Given the description of an element on the screen output the (x, y) to click on. 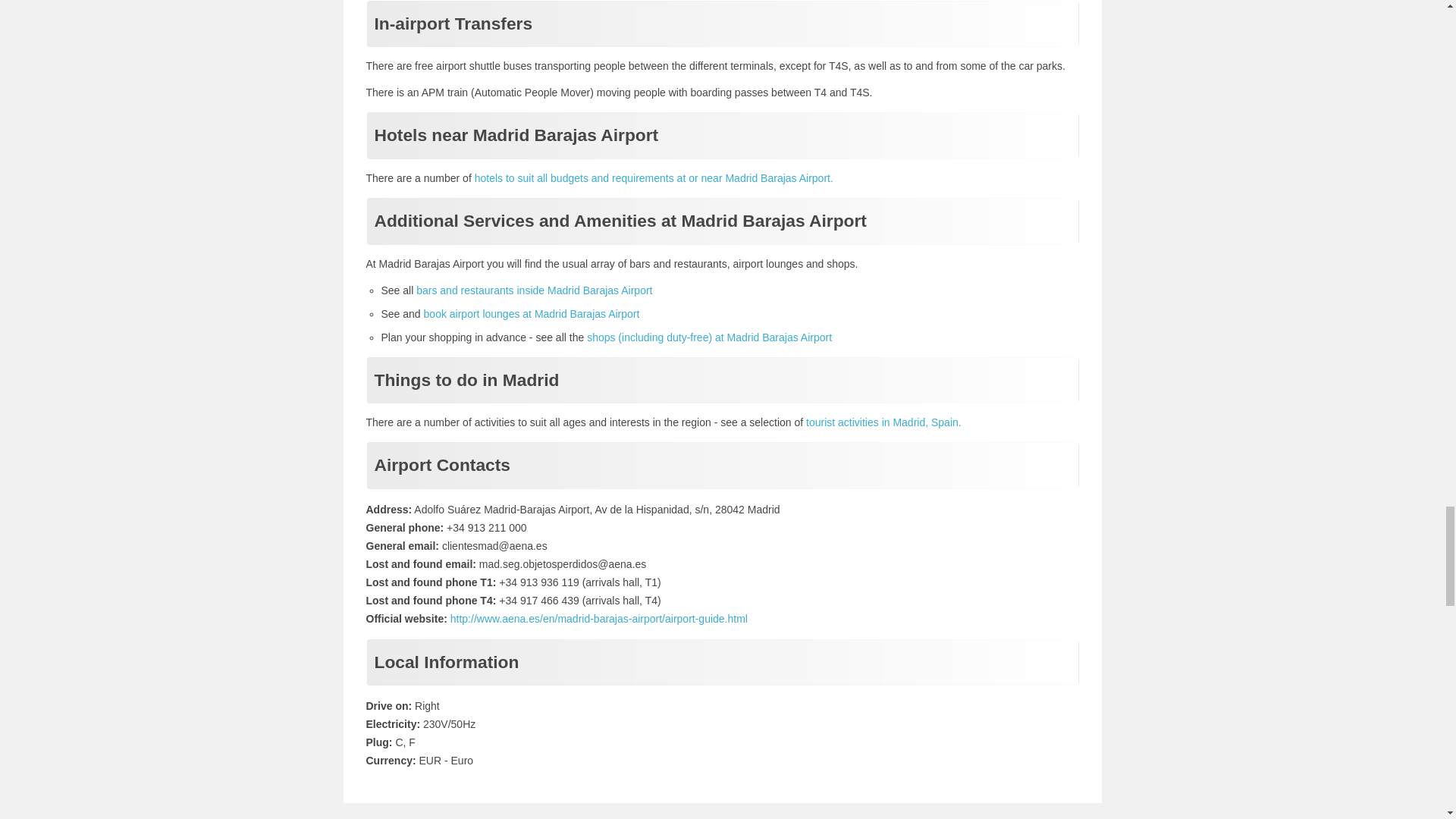
Hotels (653, 177)
Lounges (531, 313)
Shops (708, 337)
